Given the description of an element on the screen output the (x, y) to click on. 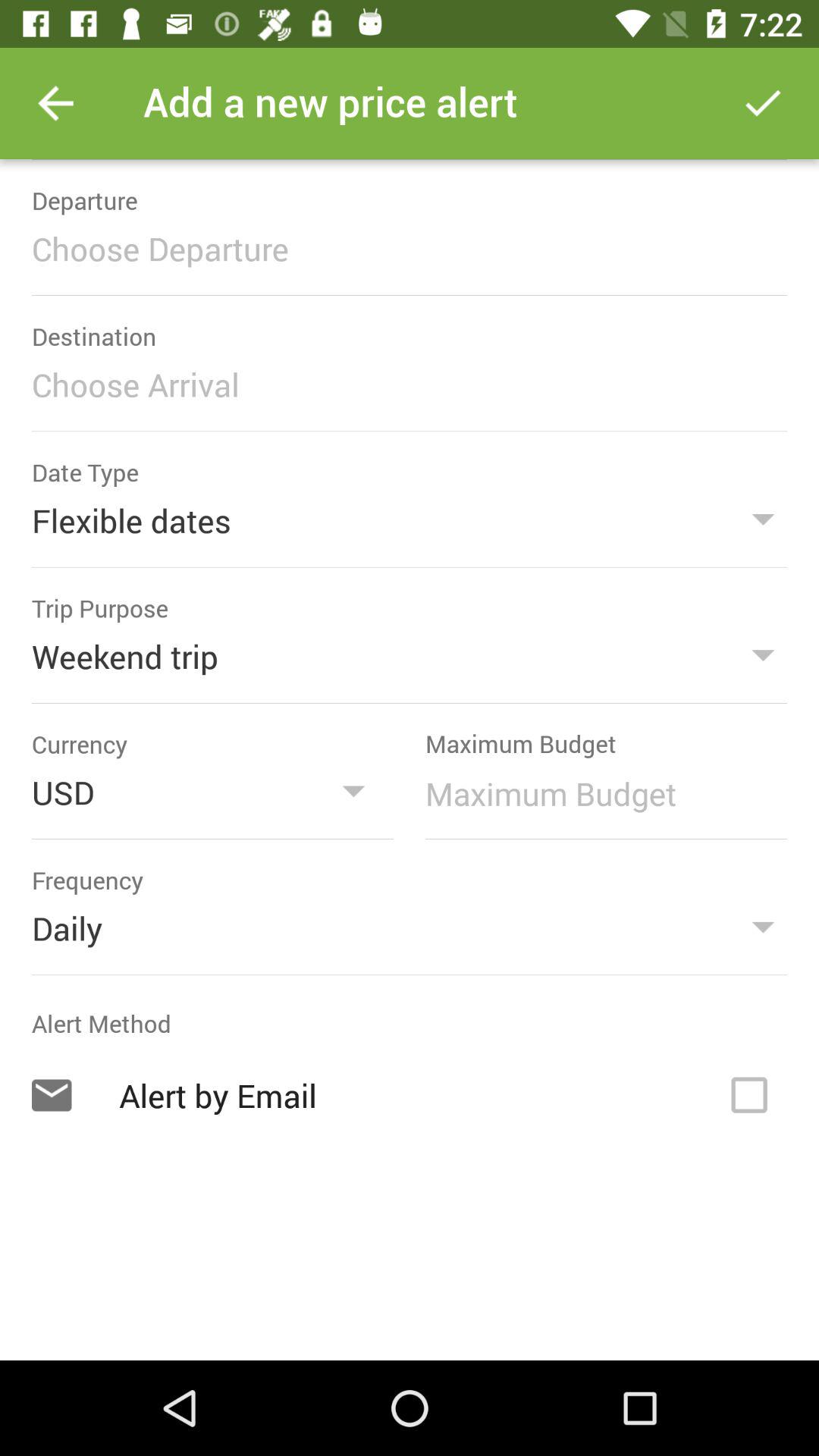
choose the item at the top right corner (763, 103)
